Given the description of an element on the screen output the (x, y) to click on. 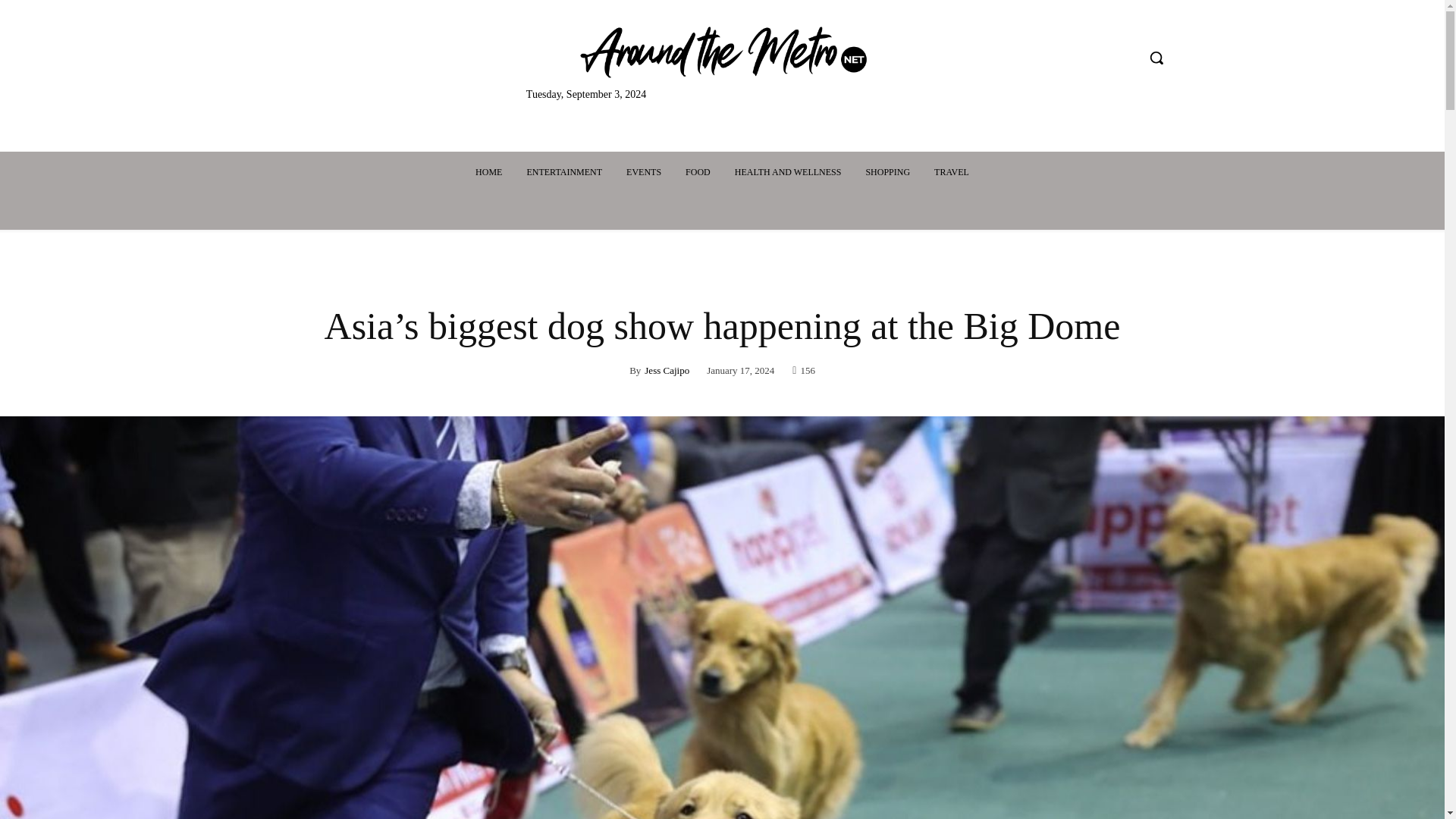
HEALTH AND WELLNESS (787, 172)
HOME (488, 172)
FOOD (697, 172)
EVENTS (643, 172)
TRAVEL (951, 172)
SHOPPING (887, 172)
ENTERTAINMENT (563, 172)
Jess Cajipo (666, 370)
